Given the description of an element on the screen output the (x, y) to click on. 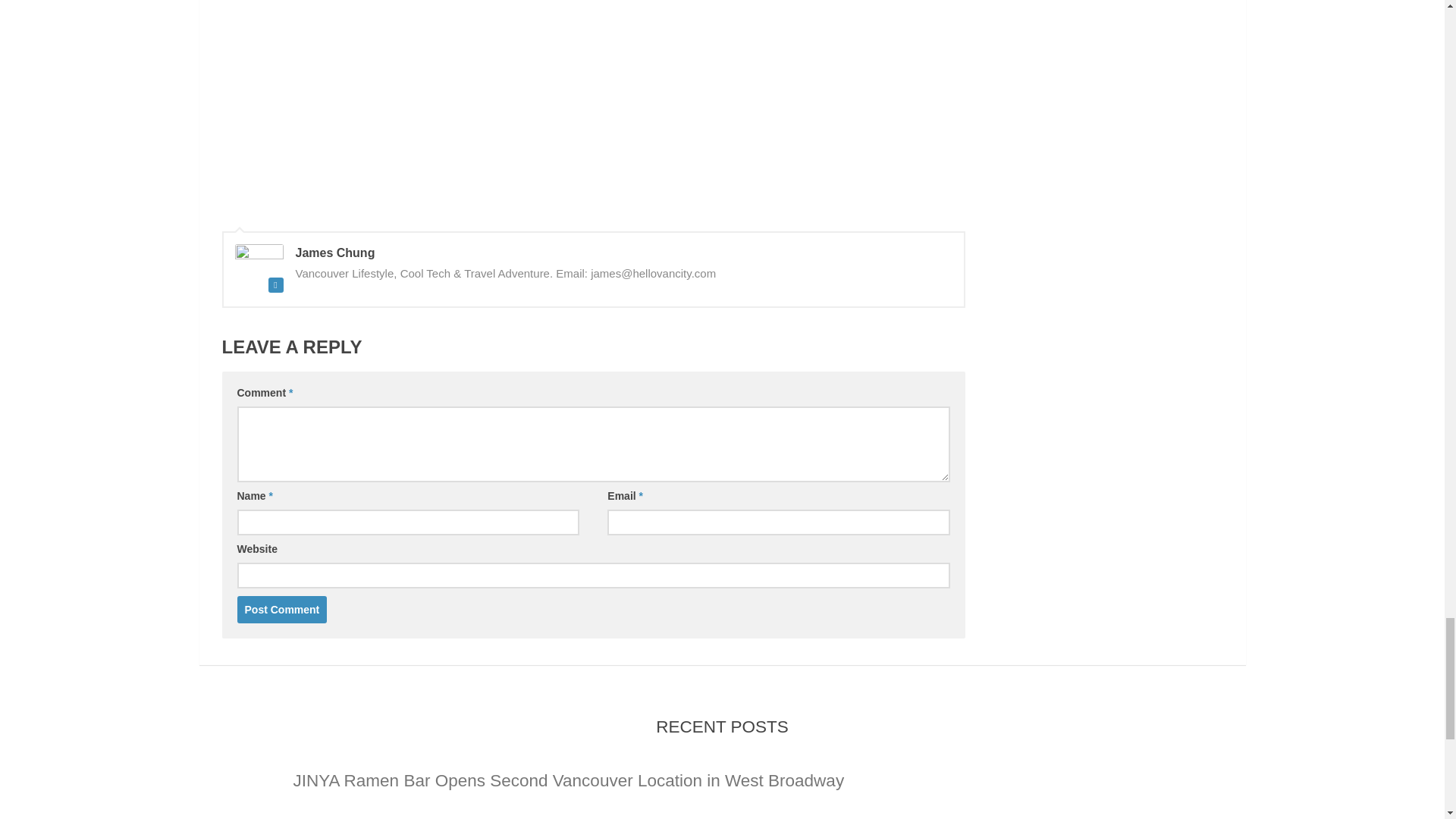
Post Comment (280, 609)
Post Comment (280, 609)
